Given the description of an element on the screen output the (x, y) to click on. 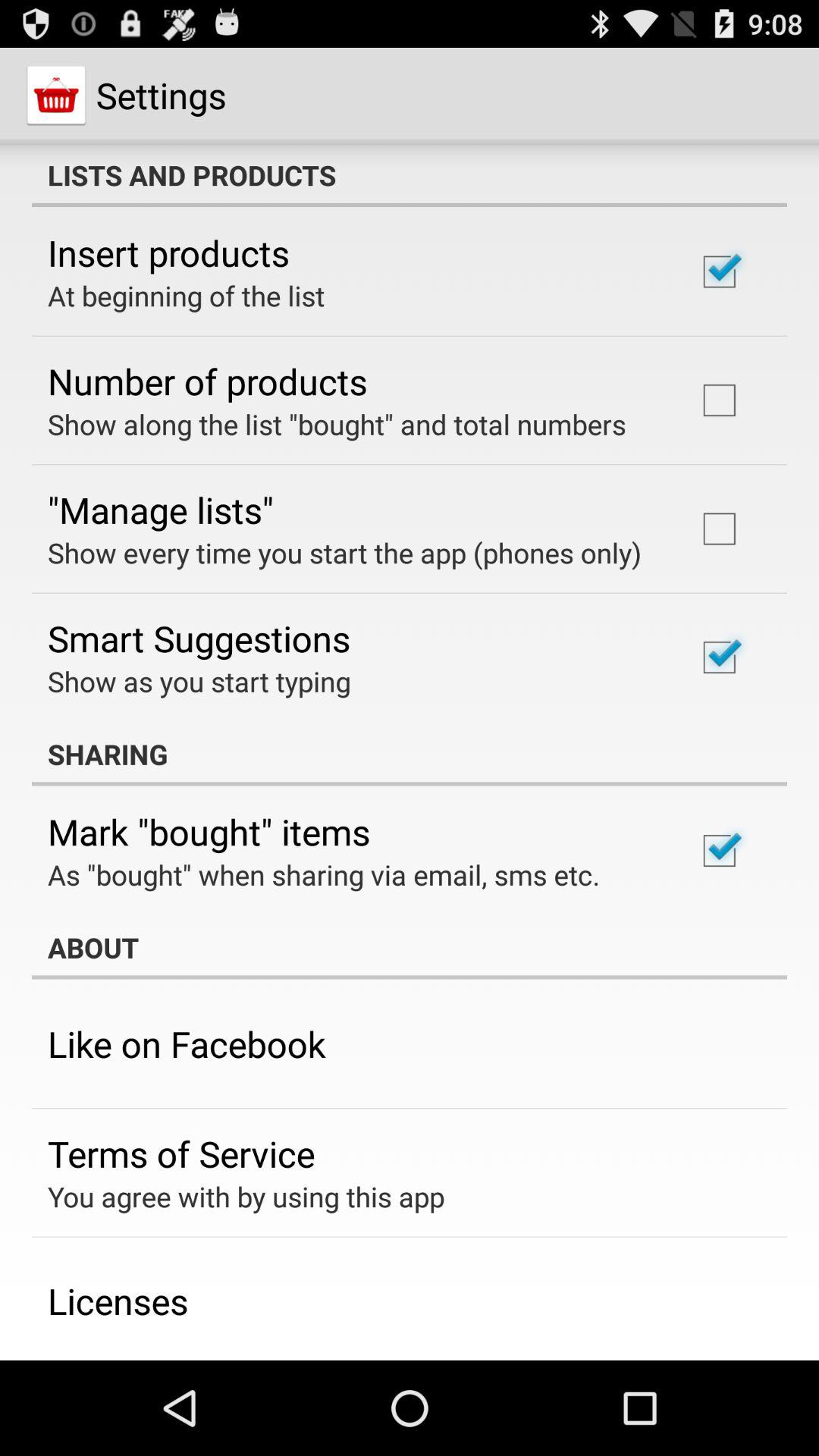
flip until the "manage lists" (160, 509)
